Given the description of an element on the screen output the (x, y) to click on. 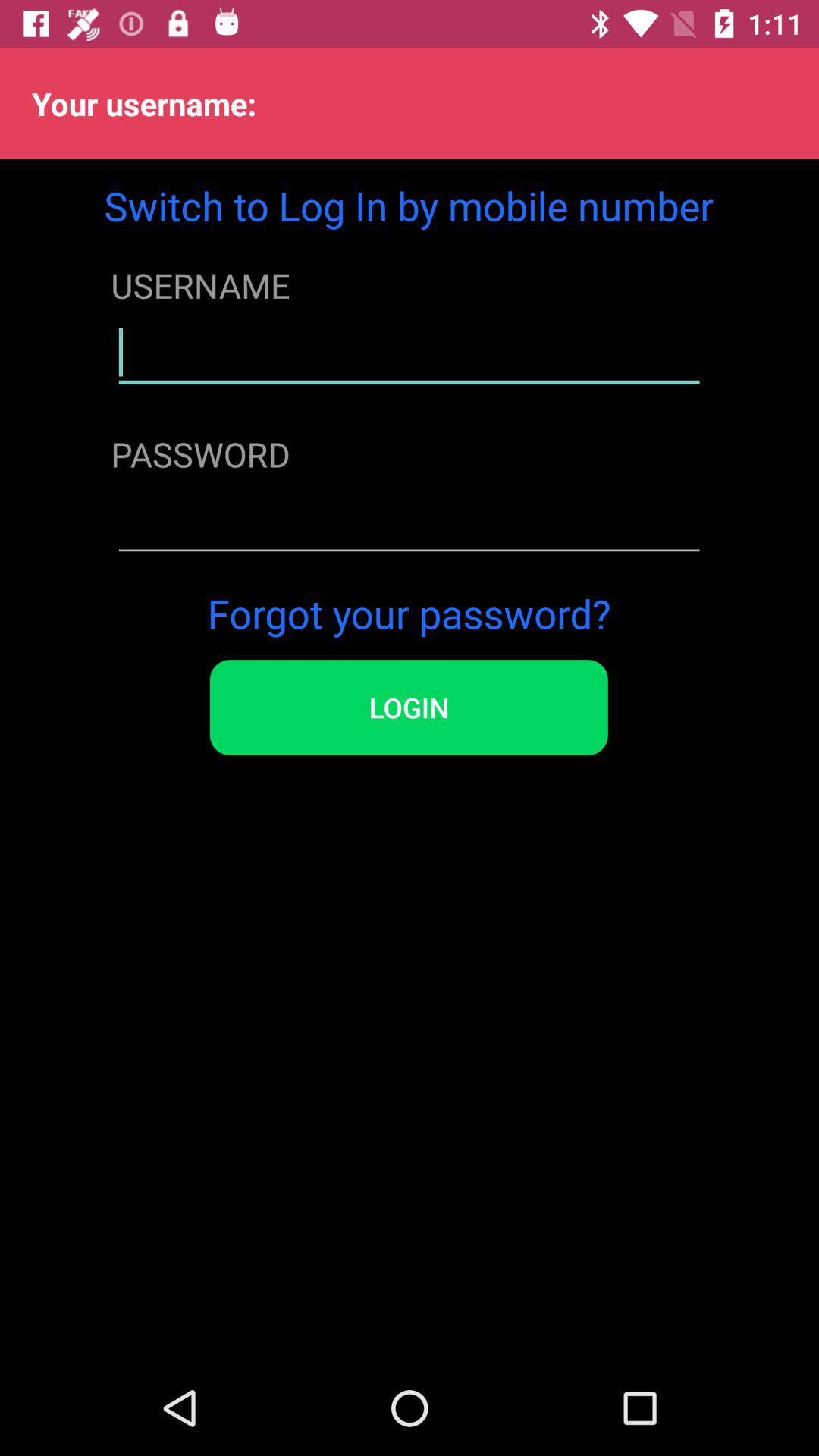
turn on login icon (408, 707)
